Given the description of an element on the screen output the (x, y) to click on. 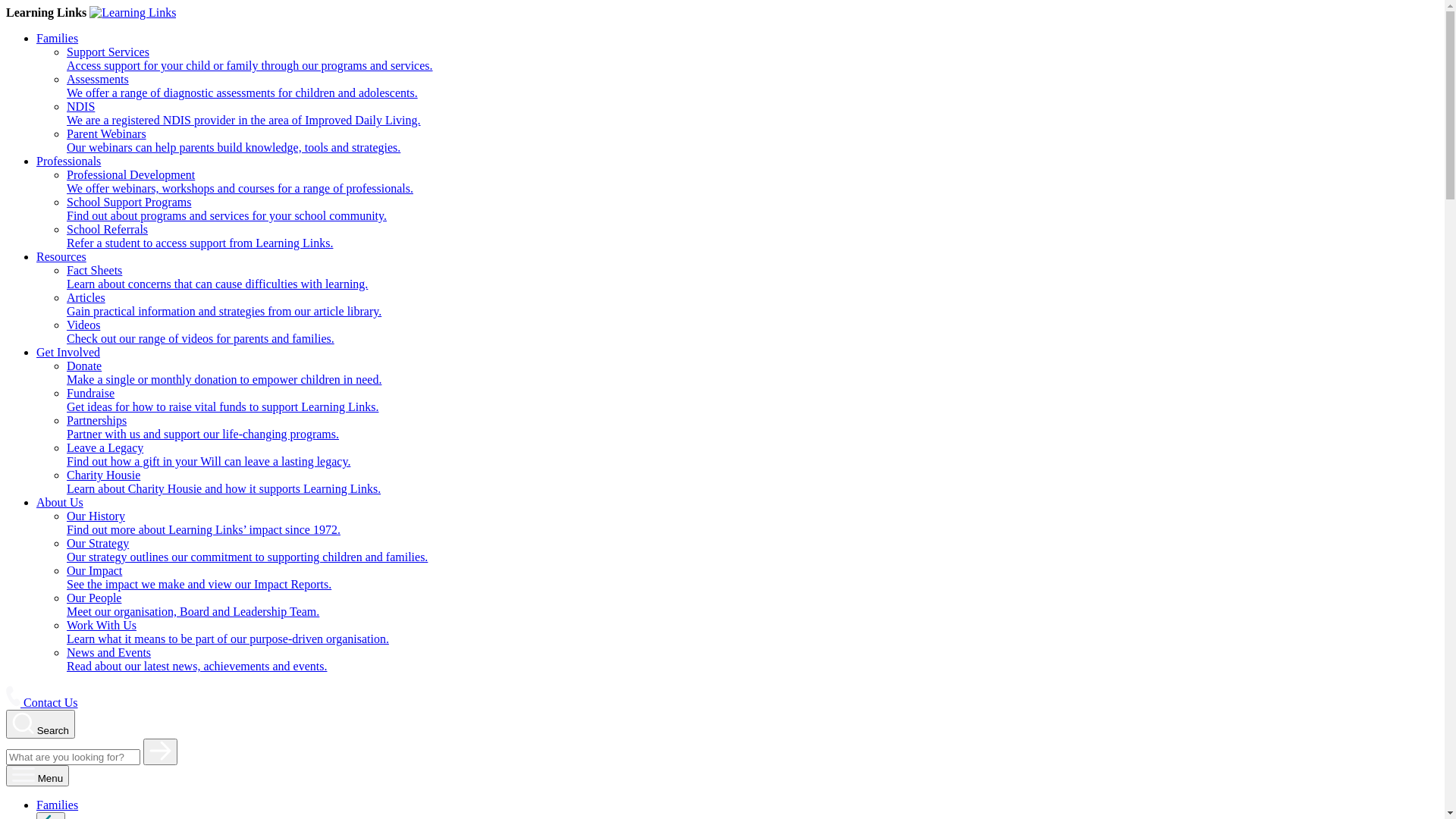
Professionals Element type: text (68, 160)
Search Element type: text (40, 723)
Contact Us Element type: text (42, 702)
Families Element type: text (57, 37)
Resources Element type: text (61, 256)
Families Element type: text (57, 804)
Get Involved Element type: text (68, 351)
Menu Element type: text (37, 775)
Our People
Meet our organisation, Board and Leadership Team. Element type: text (752, 604)
About Us Element type: text (59, 501)
